Given the description of an element on the screen output the (x, y) to click on. 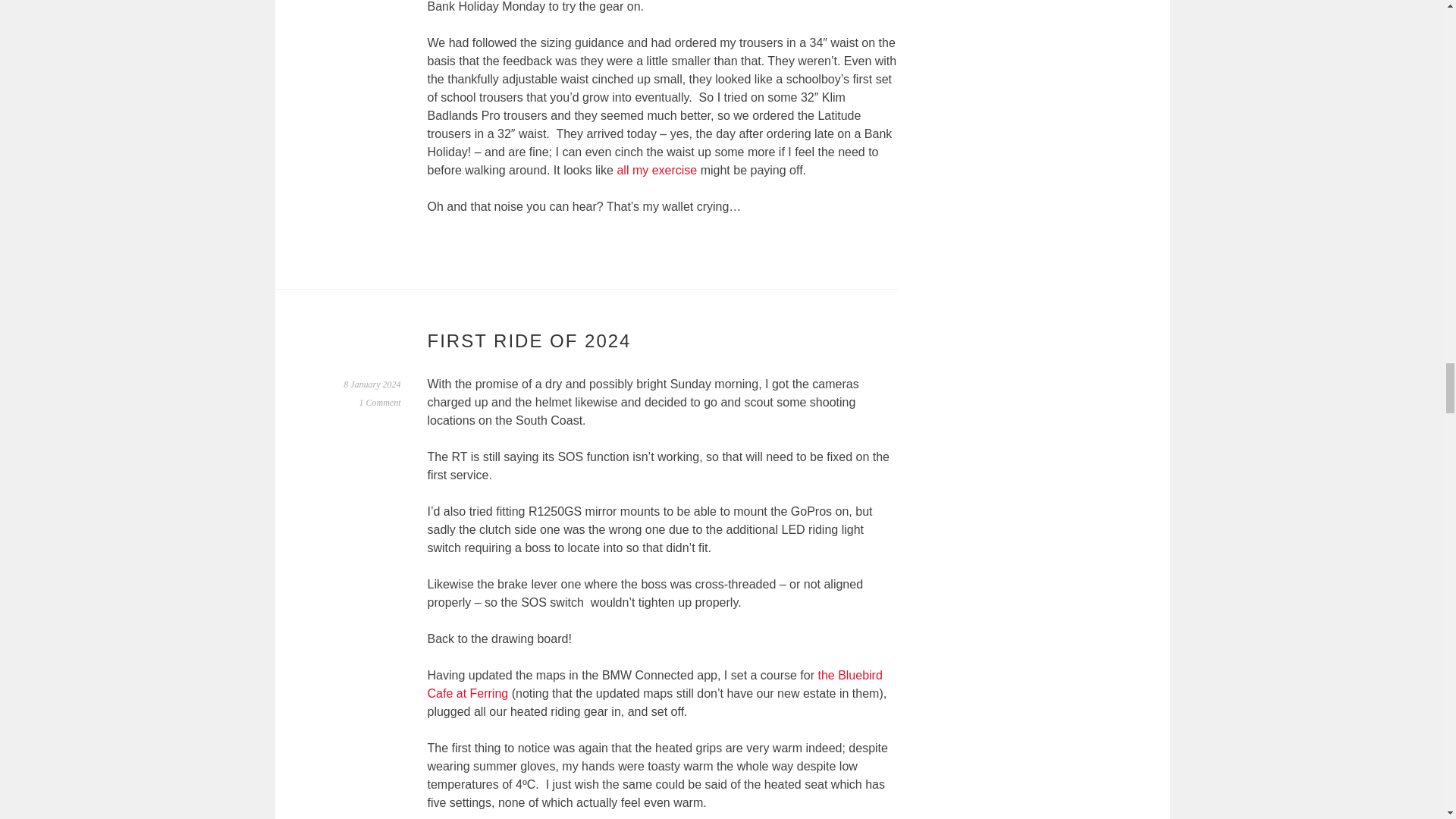
Permalink to First Ride of 2024 (371, 384)
